Given the description of an element on the screen output the (x, y) to click on. 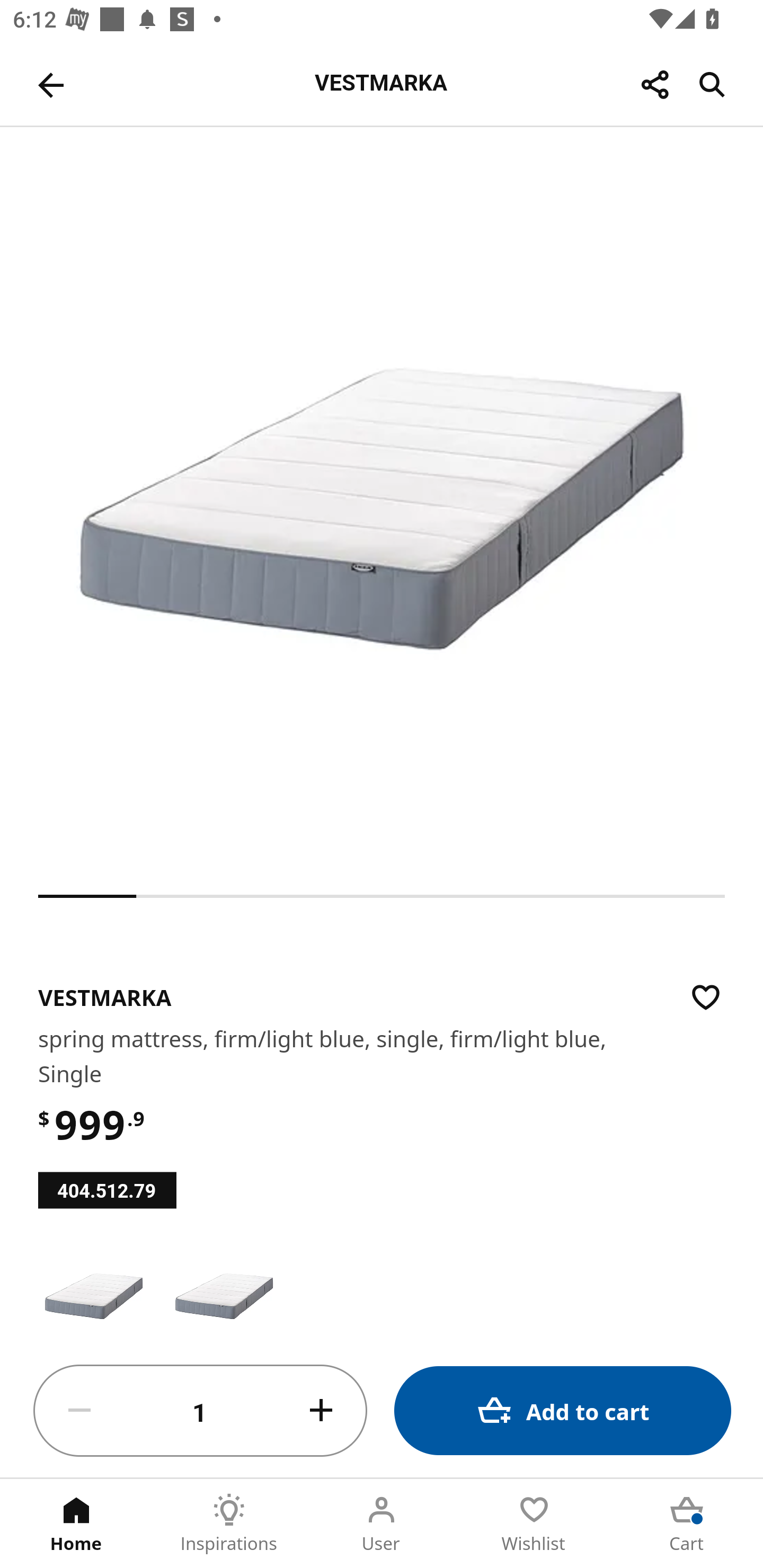
Add to cart (562, 1410)
1 (200, 1411)
Home
Tab 1 of 5 (76, 1522)
Inspirations
Tab 2 of 5 (228, 1522)
User
Tab 3 of 5 (381, 1522)
Wishlist
Tab 4 of 5 (533, 1522)
Cart
Tab 5 of 5 (686, 1522)
